Given the description of an element on the screen output the (x, y) to click on. 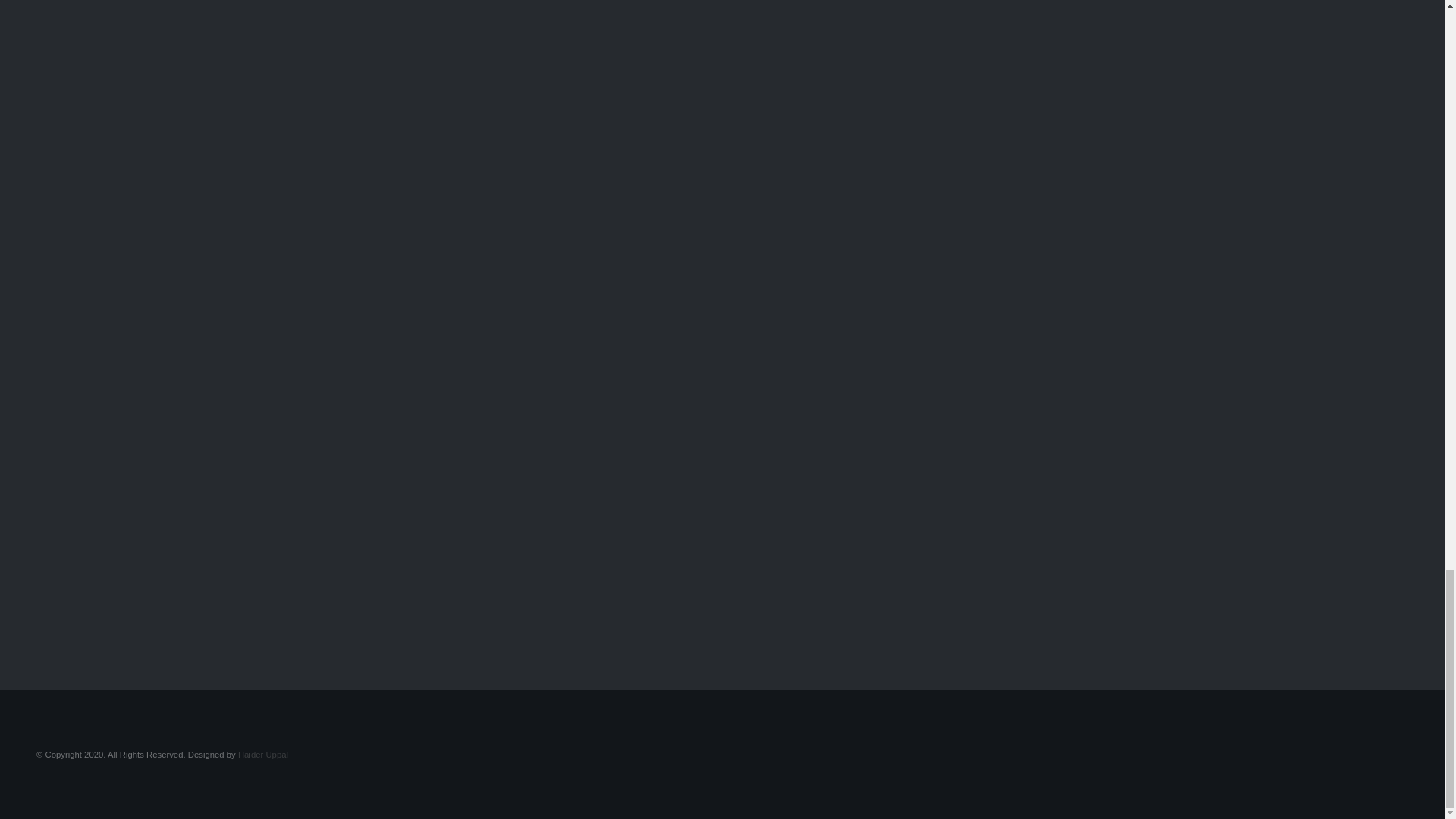
Haider Uppal (263, 754)
